Given the description of an element on the screen output the (x, y) to click on. 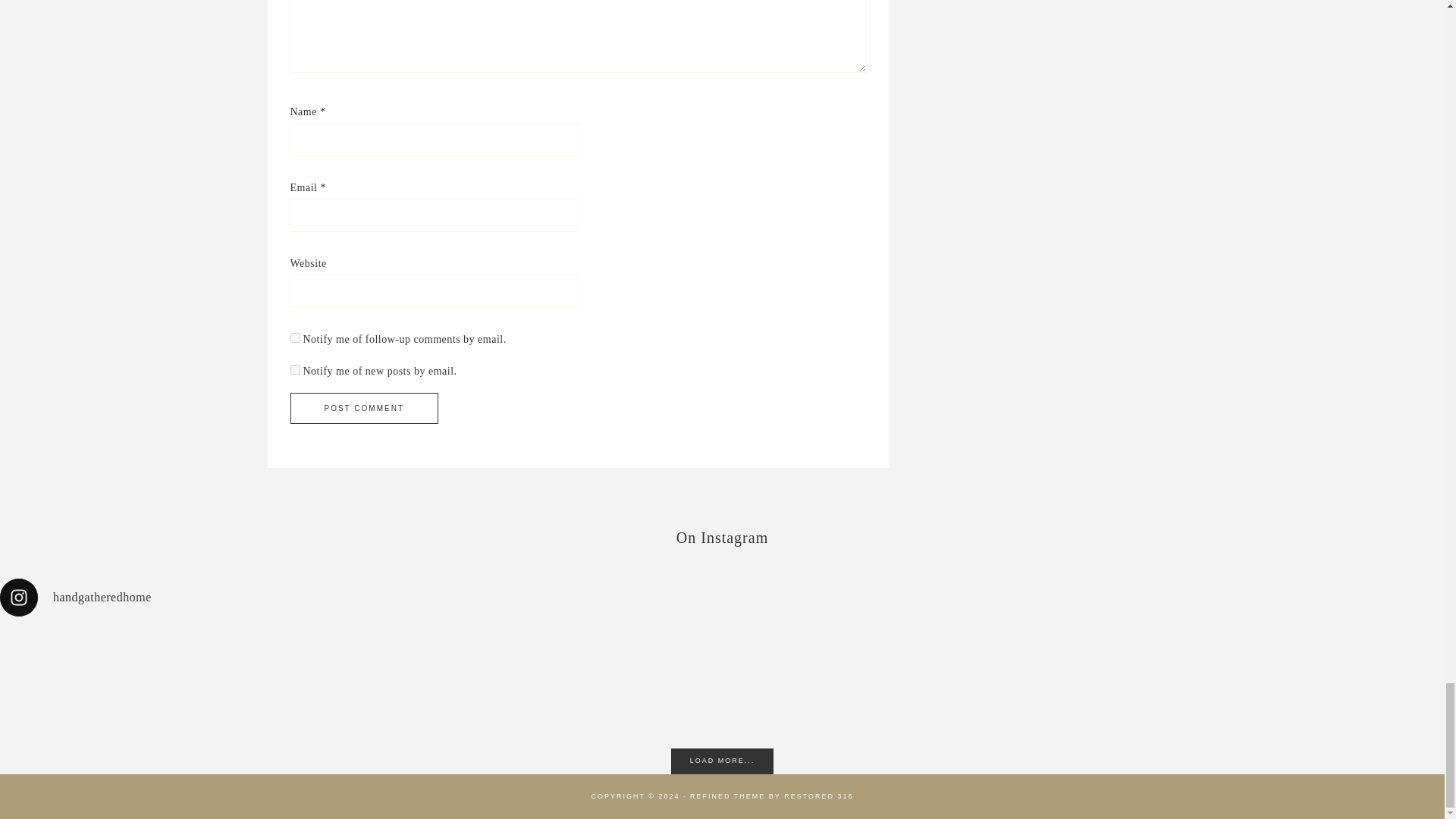
Post Comment (363, 408)
subscribe (294, 337)
subscribe (294, 369)
Post Comment (363, 408)
